Given the description of an element on the screen output the (x, y) to click on. 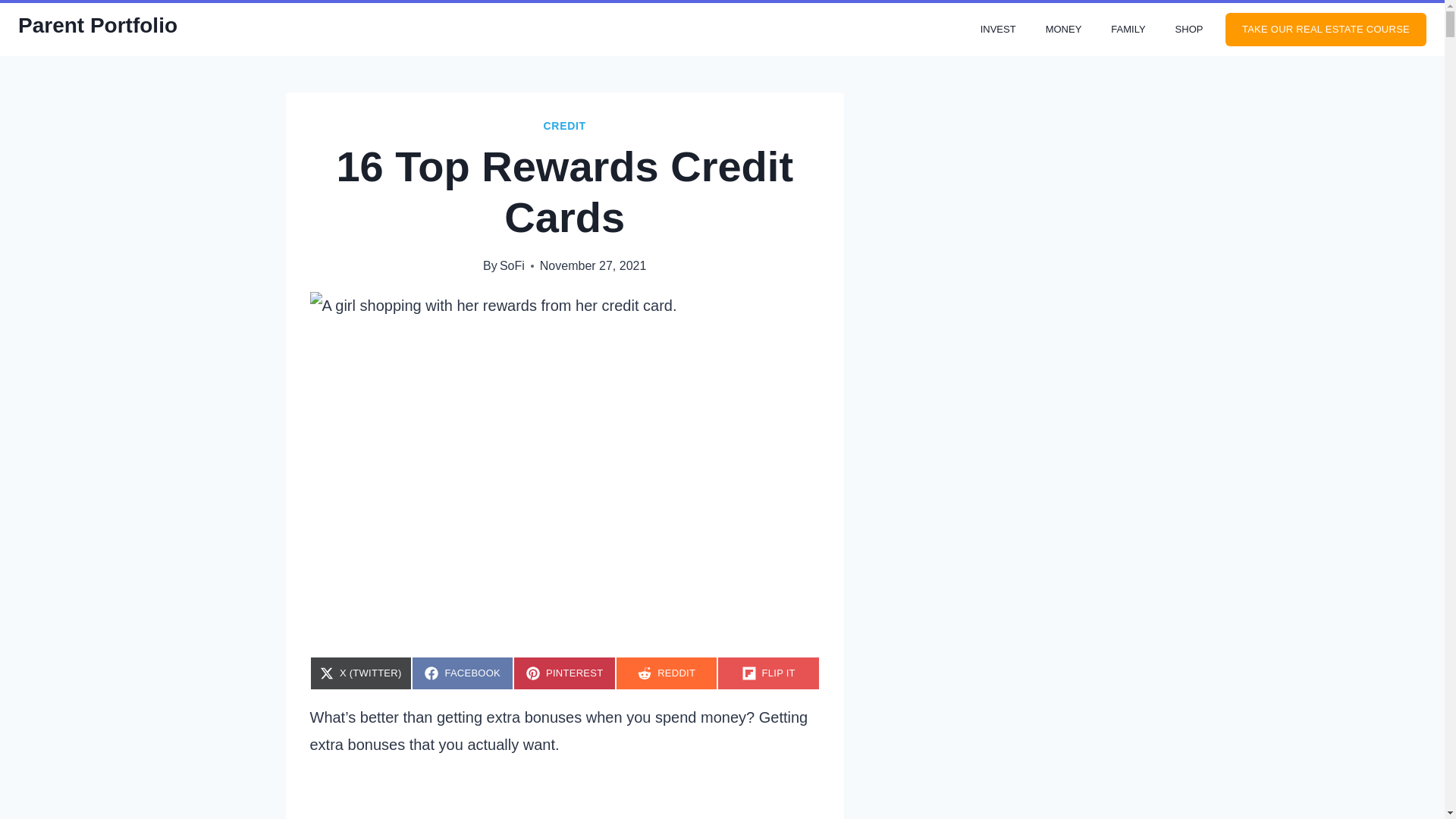
SHOP (1188, 30)
Parent Portfolio (97, 25)
MONEY (462, 673)
FAMILY (1063, 30)
INVEST (563, 673)
TAKE OUR REAL ESTATE COURSE (1128, 30)
CREDIT (997, 30)
SoFi (1325, 29)
